Given the description of an element on the screen output the (x, y) to click on. 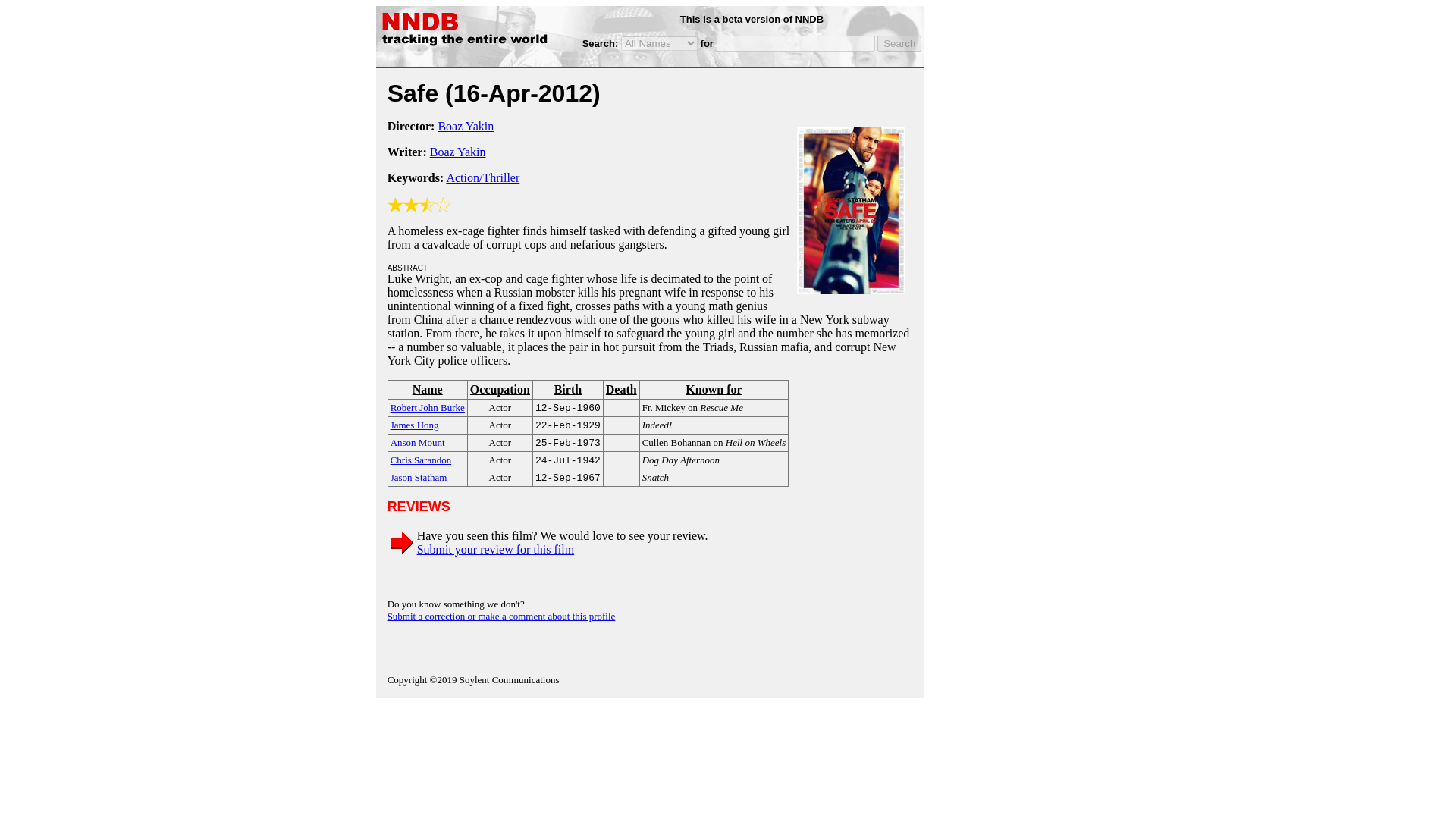
Robert John Burke (427, 406)
Submit a correction or make a comment about this profile (501, 615)
Birth (567, 389)
Boaz Yakin (465, 125)
Jason Statham (418, 476)
Name (427, 389)
Occupation (499, 389)
Boaz Yakin (457, 151)
Search (899, 43)
Search (899, 43)
Death (621, 389)
James Hong (414, 423)
Submit your review for this film (495, 549)
Known for (714, 389)
Chris Sarandon (420, 459)
